Given the description of an element on the screen output the (x, y) to click on. 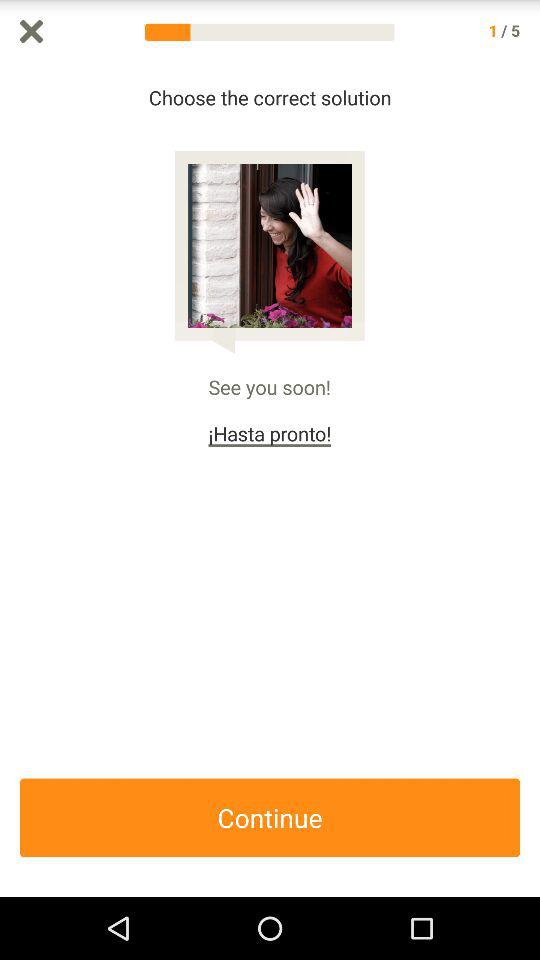
toggle down (530, 480)
